Given the description of an element on the screen output the (x, y) to click on. 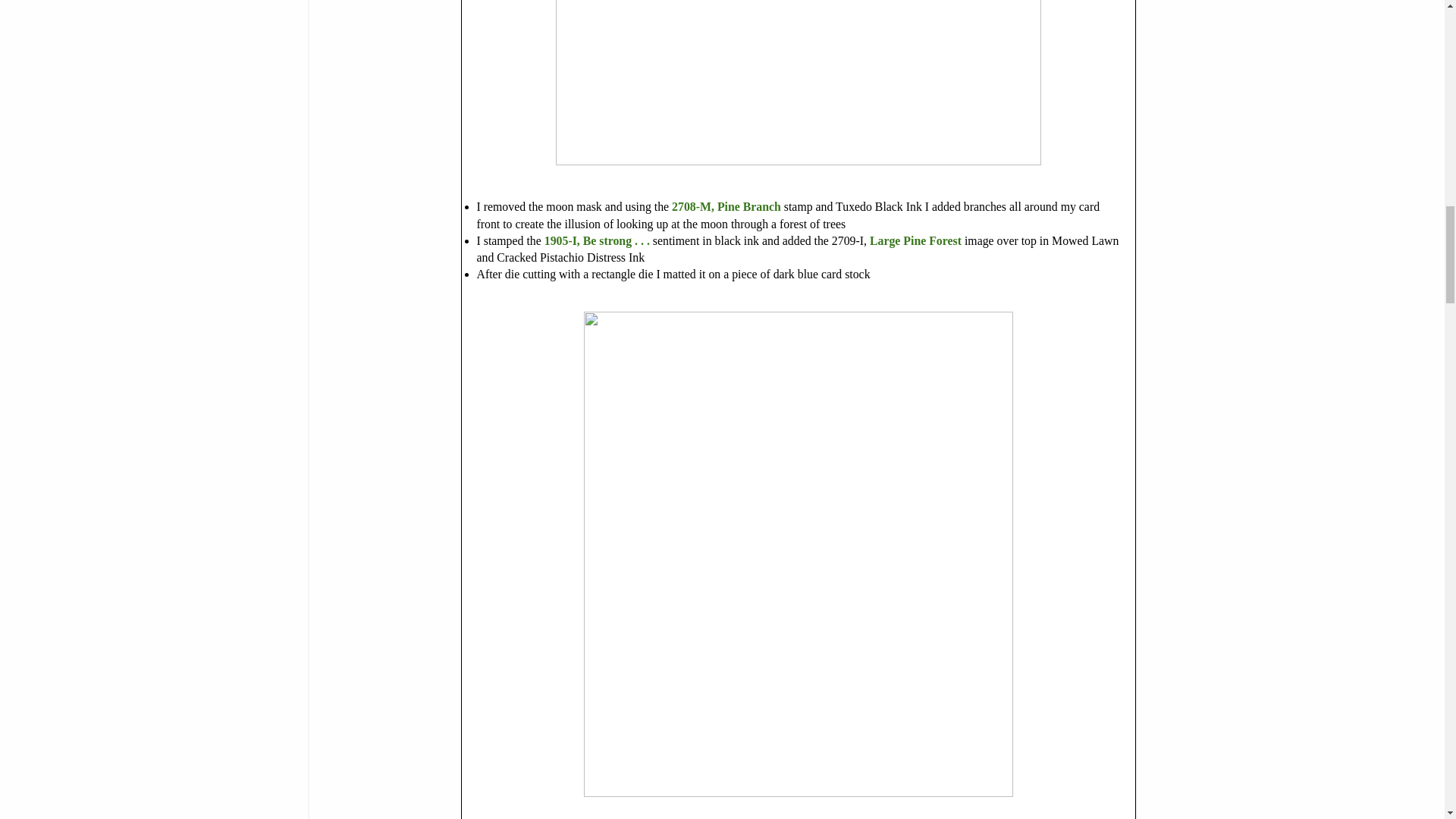
2708-M, Pine Branch (724, 205)
1905-I, Be strong . . . (598, 240)
Large Pine Forest (916, 240)
